Given the description of an element on the screen output the (x, y) to click on. 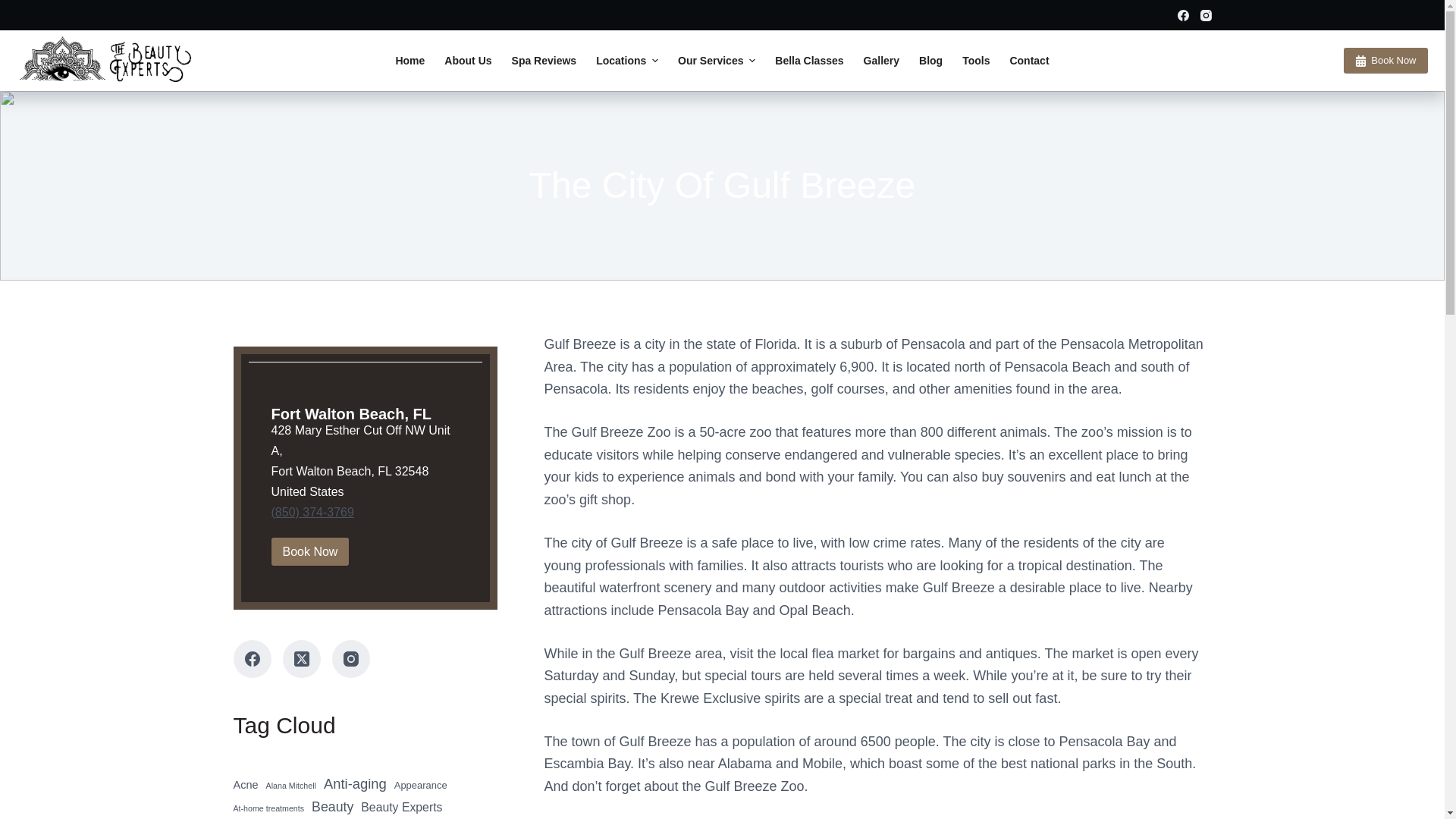
Skip to content (15, 7)
Our Services (716, 60)
Spa Reviews (544, 60)
Home (409, 60)
Locations (627, 60)
About Us (466, 60)
The city of Gulf Breeze (722, 185)
